Given the description of an element on the screen output the (x, y) to click on. 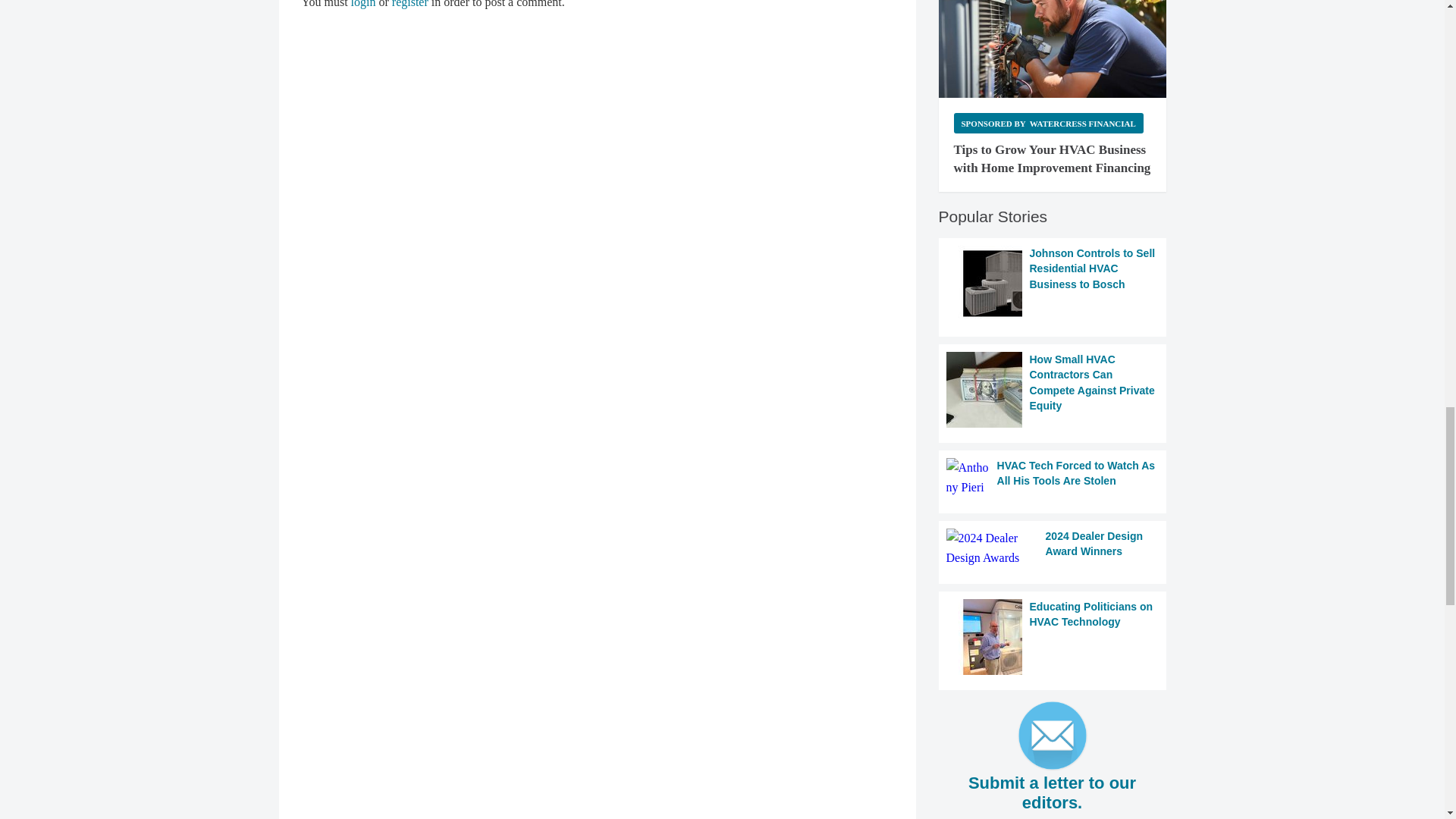
Sponsored by Watercress Financial (1047, 123)
Technician Working on HVAC Unit (1052, 48)
HVAC Tech Forced to Watch As All His Tools Are Stolen (1052, 477)
2024 Dealer Design Award Winners (1052, 548)
Johnson Controls to Sell Residential HVAC Business to Bosch (1052, 283)
Educating Politicians on HVAC Technology (1052, 636)
